Given the description of an element on the screen output the (x, y) to click on. 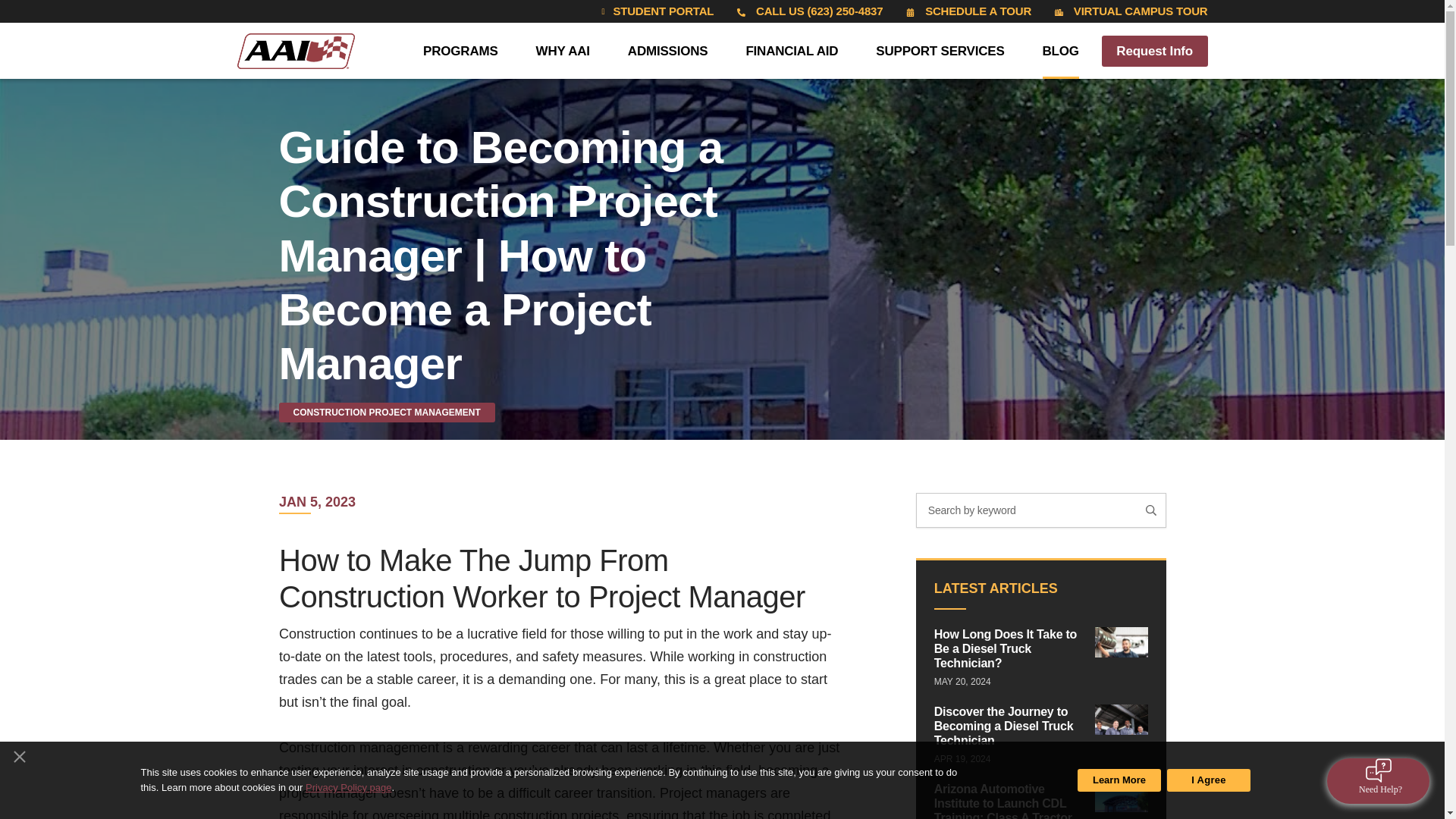
SCHEDULE A TOUR (967, 11)
ADMISSIONS (667, 50)
VIRTUAL CAMPUS TOUR (1130, 11)
BLOG (1060, 50)
FINANCIAL AID (791, 50)
STUDENT PORTAL (654, 11)
PROGRAMS (460, 50)
WHY AAI (562, 50)
No (18, 752)
SUPPORT SERVICES (940, 50)
